Given the description of an element on the screen output the (x, y) to click on. 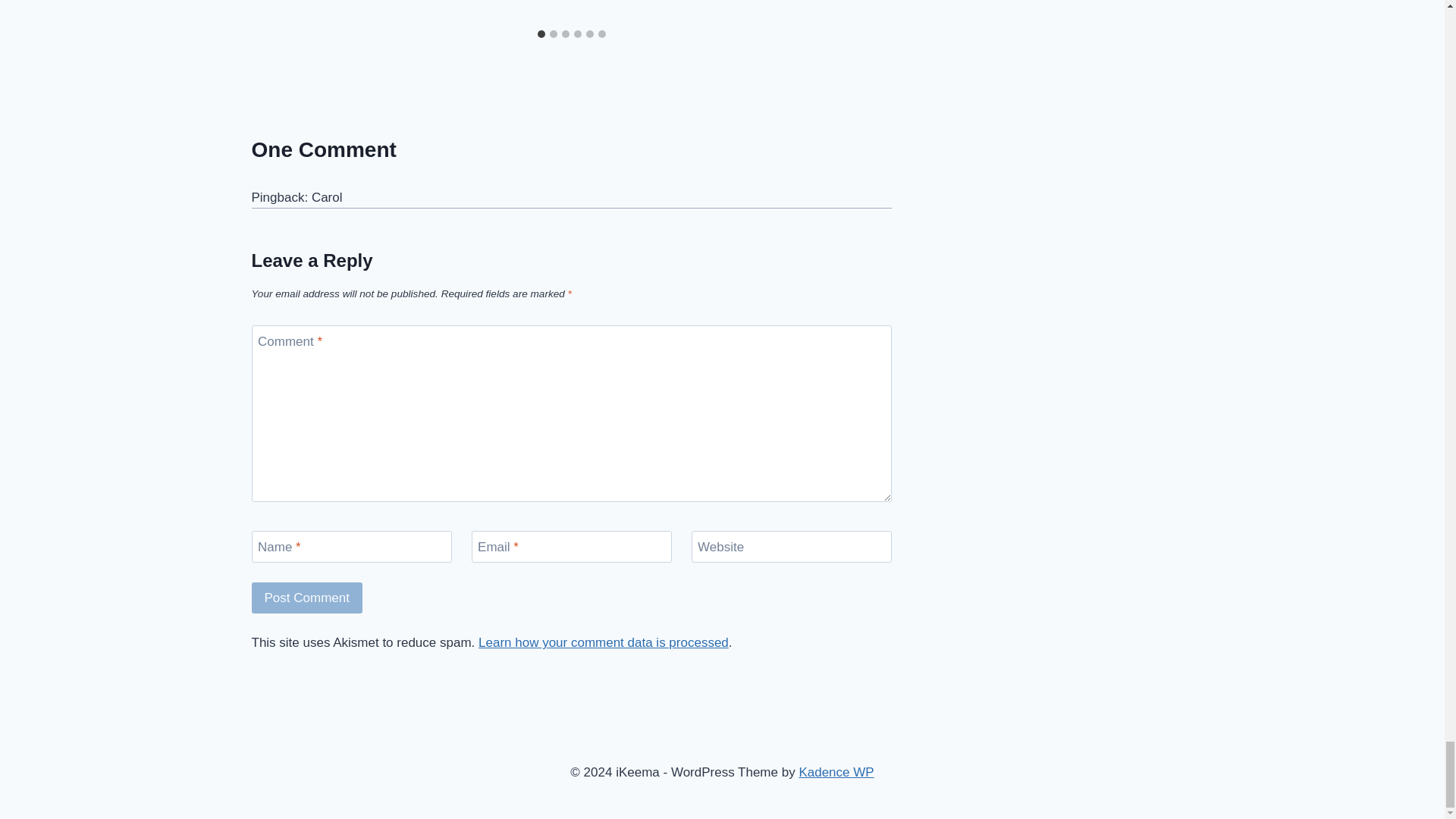
Post Comment (306, 597)
